Given the description of an element on the screen output the (x, y) to click on. 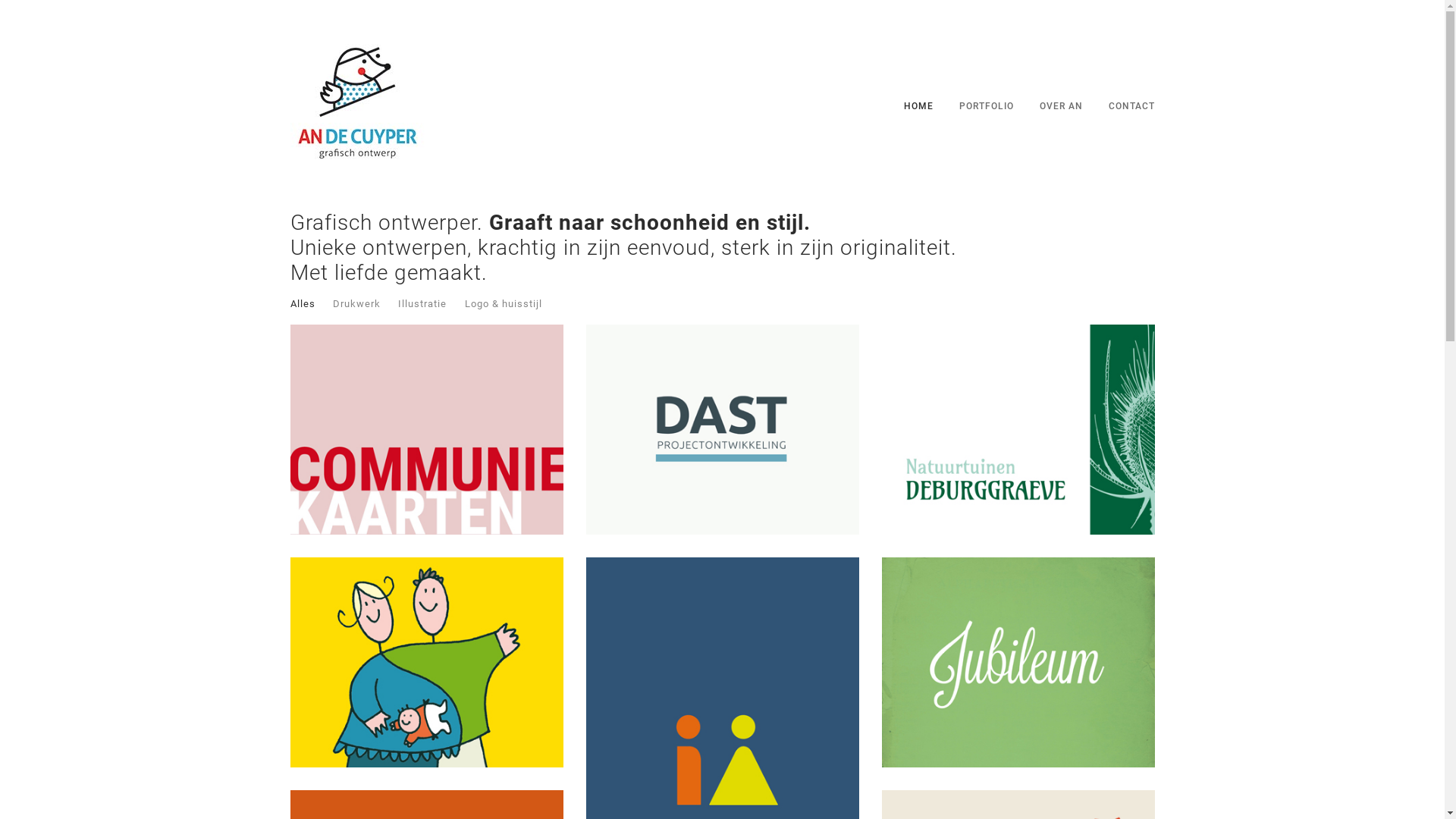
CONTACT Element type: text (1131, 105)
HOME Element type: text (918, 105)
OVER AN Element type: text (1060, 105)
PORTFOLIO Element type: text (985, 105)
